Given the description of an element on the screen output the (x, y) to click on. 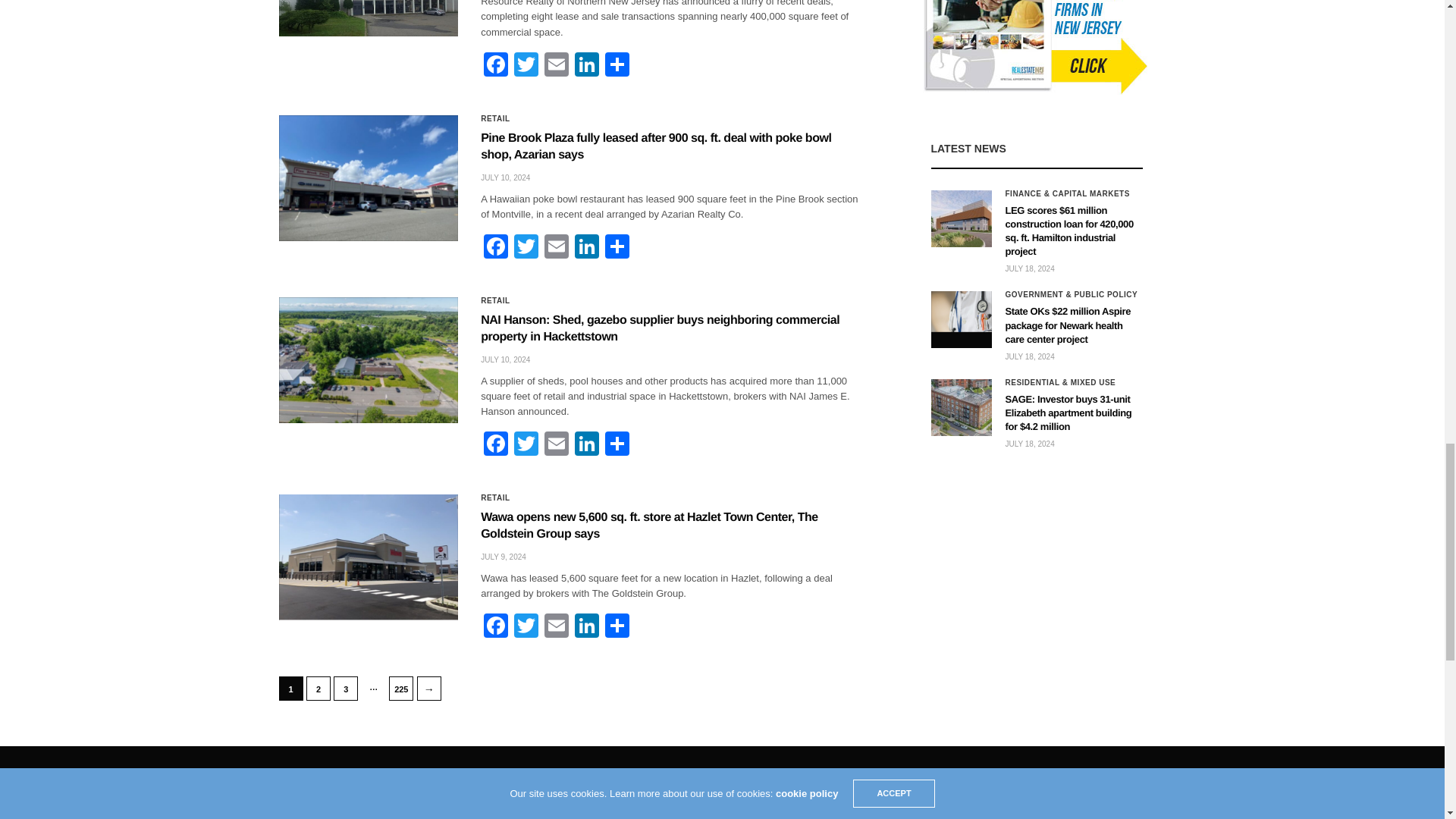
Search (1149, 790)
